Given the description of an element on the screen output the (x, y) to click on. 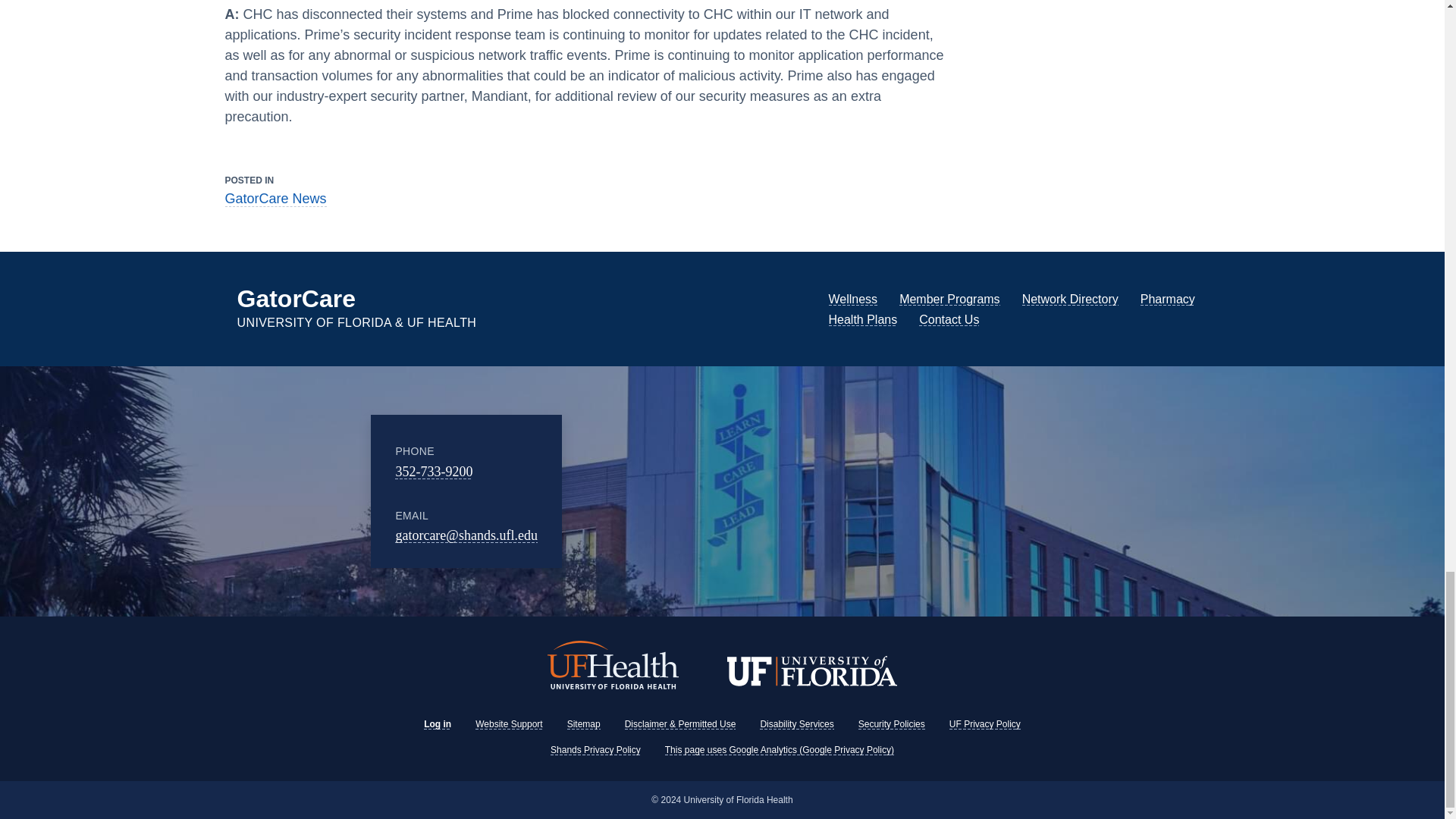
UF Privacy Policy (984, 724)
Member Programs (948, 298)
Log in (437, 724)
Health Plans (862, 318)
352-733-9200 (432, 471)
Contact Us (948, 318)
Website Support (509, 724)
Pharmacy (1167, 298)
Security Policies (891, 724)
Wellness (852, 298)
